Given the description of an element on the screen output the (x, y) to click on. 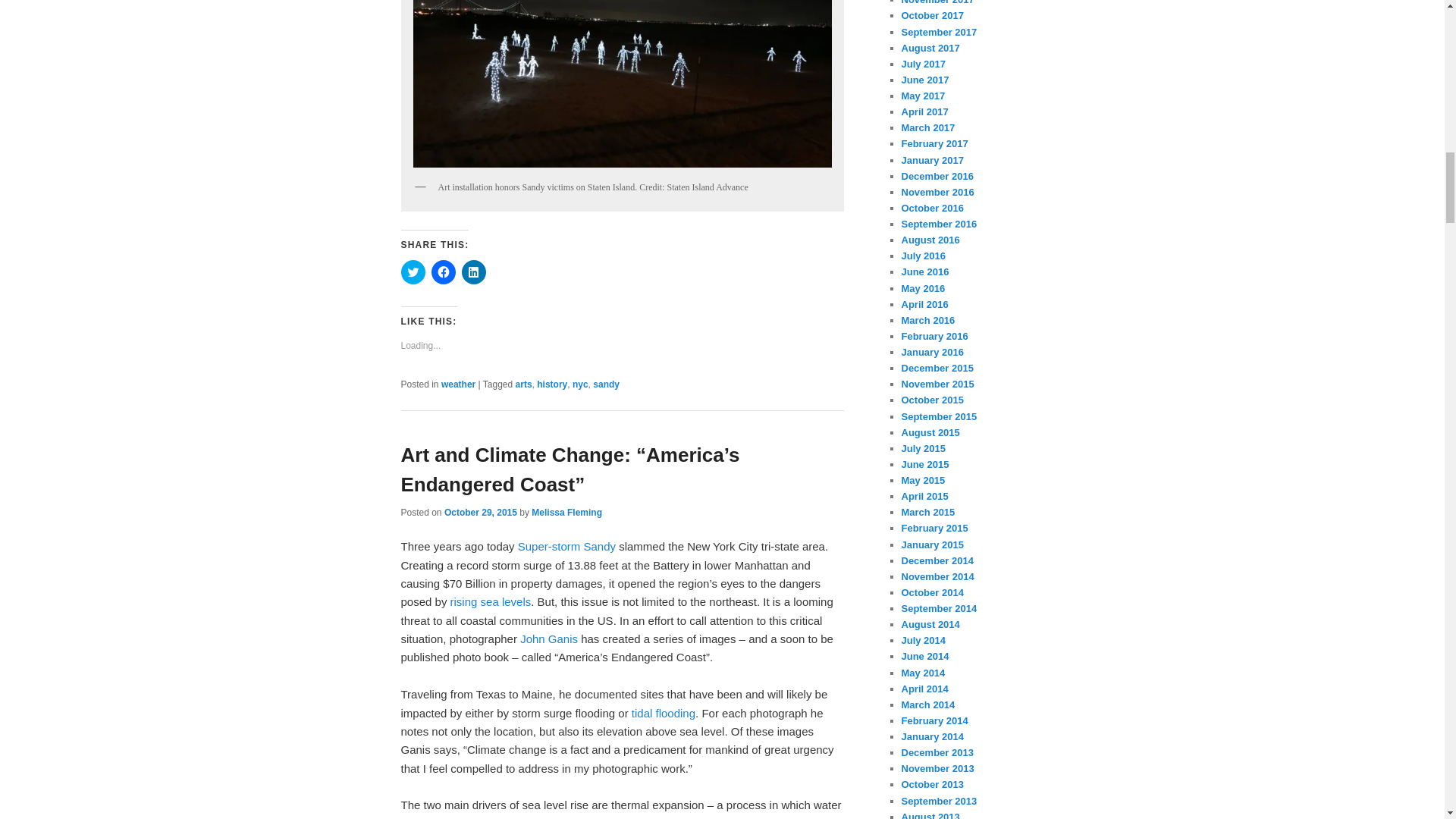
Click to share on Twitter (412, 272)
Click to share on Facebook (442, 272)
View all posts by Melissa Fleming (566, 511)
Click to share on LinkedIn (472, 272)
